Given the description of an element on the screen output the (x, y) to click on. 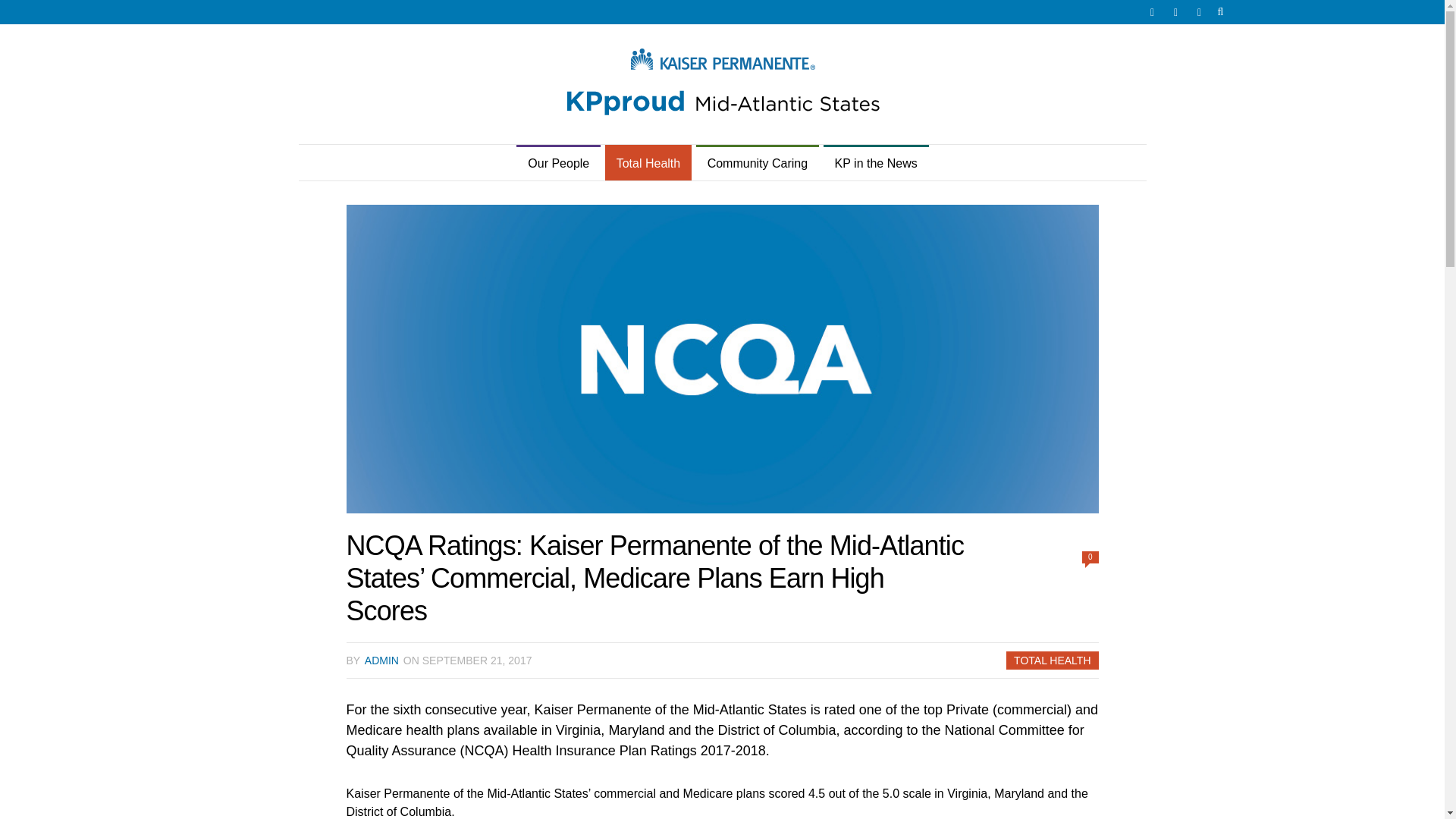
Posts by admin (381, 660)
RSS (1199, 12)
KP in the News (876, 163)
TOTAL HEALTH (1051, 660)
ADMIN (381, 660)
Kaiser Permanente KPproud Mid-Atlantic States (721, 84)
Facebook (1174, 12)
Community Caring (756, 163)
Total Health (649, 163)
Our People (557, 163)
Twitter (1151, 12)
